Given the description of an element on the screen output the (x, y) to click on. 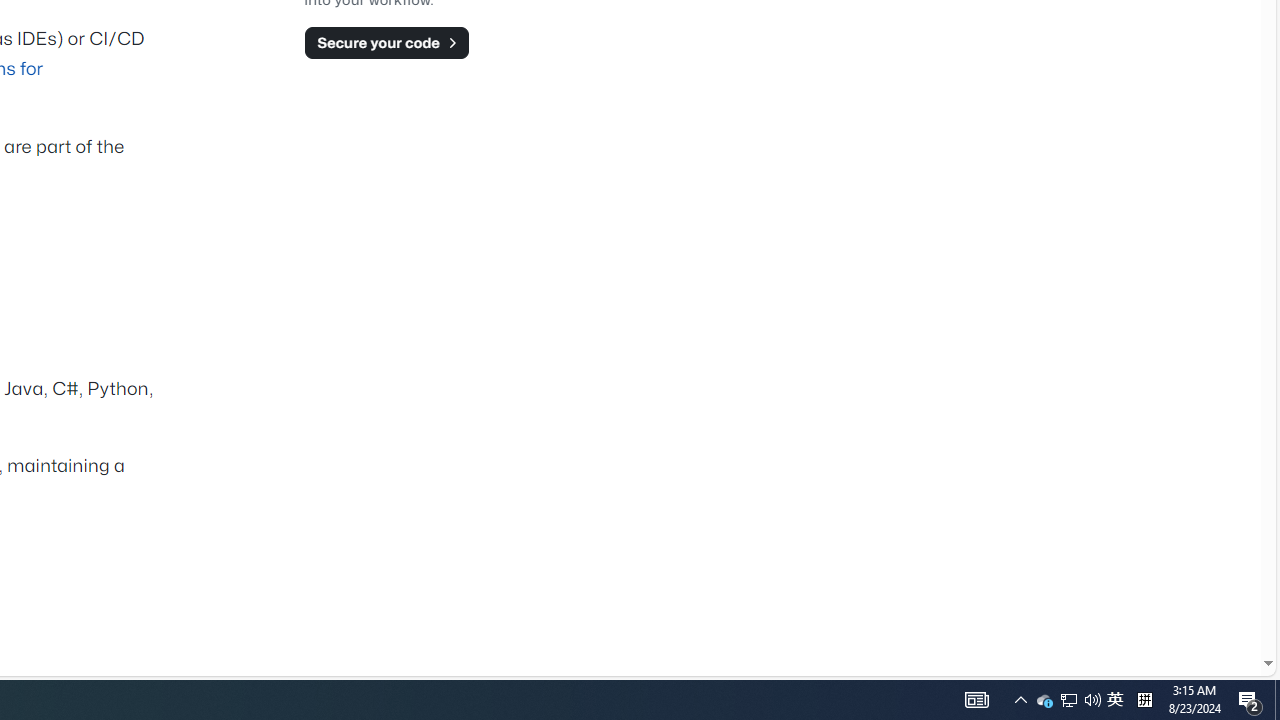
Secure your code (386, 42)
